Given the description of an element on the screen output the (x, y) to click on. 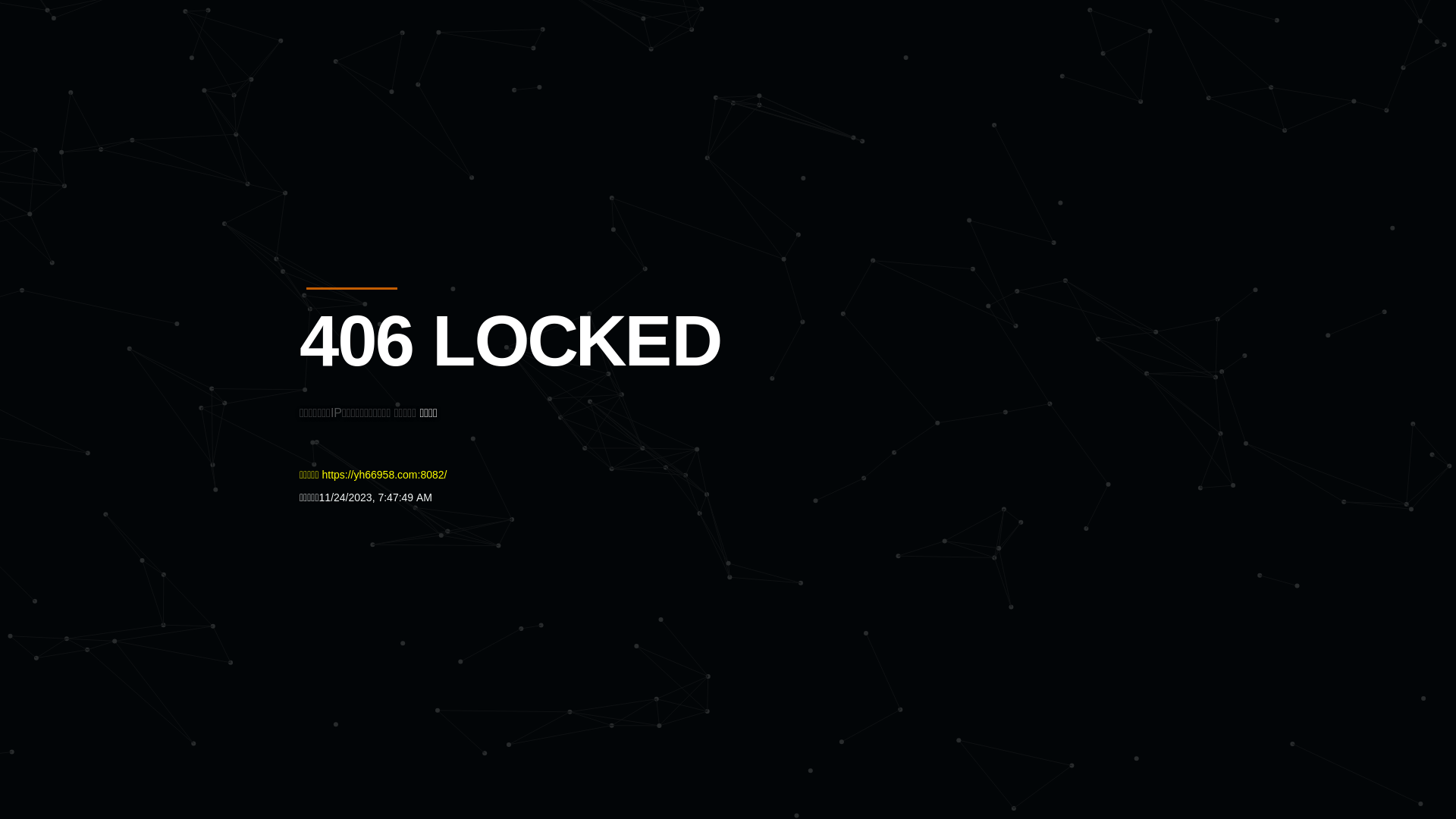
Quatro Element type: text (410, 86)
